Given the description of an element on the screen output the (x, y) to click on. 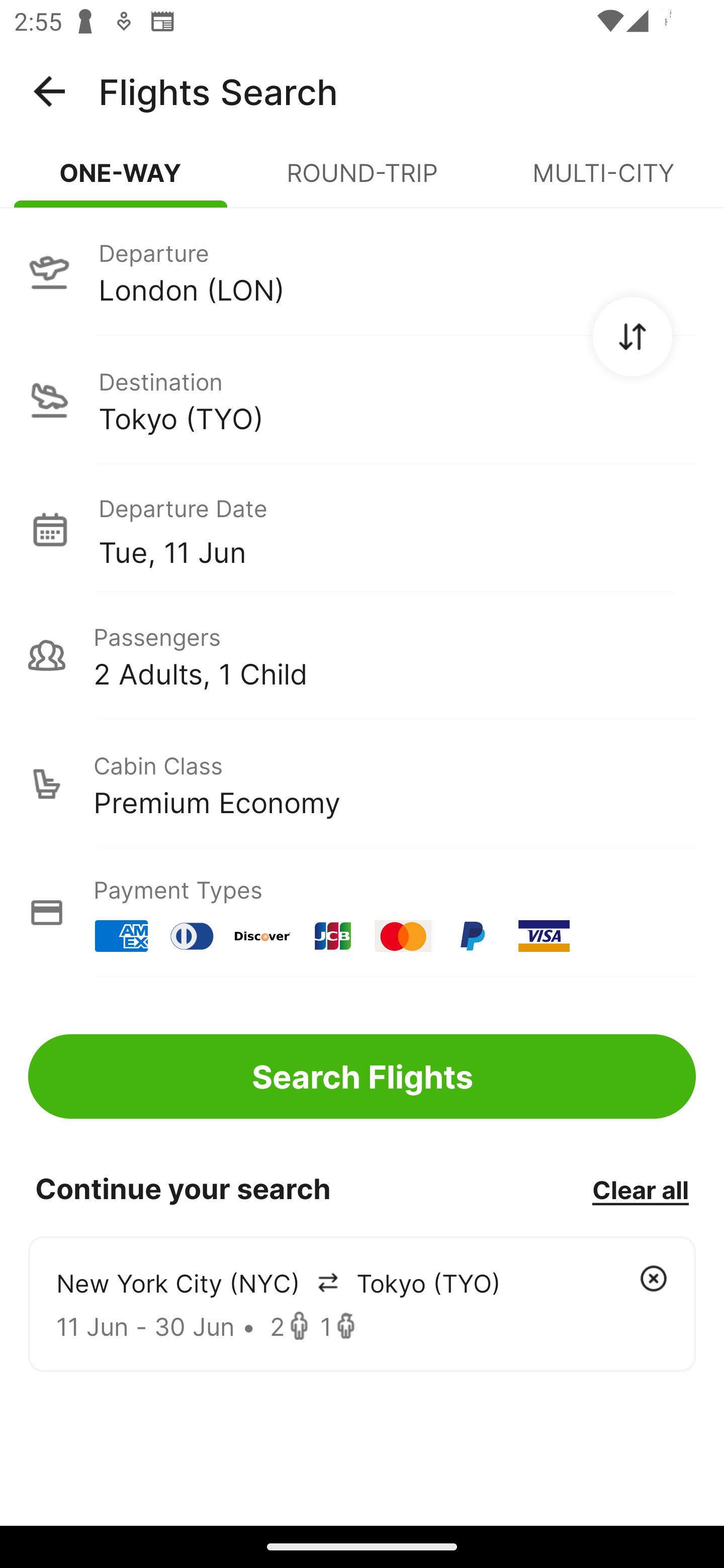
ONE-WAY (120, 180)
ROUND-TRIP (361, 180)
MULTI-CITY (603, 180)
Departure London (LON) (362, 270)
Destination Tokyo (TYO) (362, 400)
Departure Date Tue, 11 Jun (396, 528)
Passengers 2 Adults, 1 Child (362, 655)
Cabin Class Premium Economy (362, 783)
Payment Types (362, 912)
Search Flights (361, 1075)
Clear all (640, 1189)
